Given the description of an element on the screen output the (x, y) to click on. 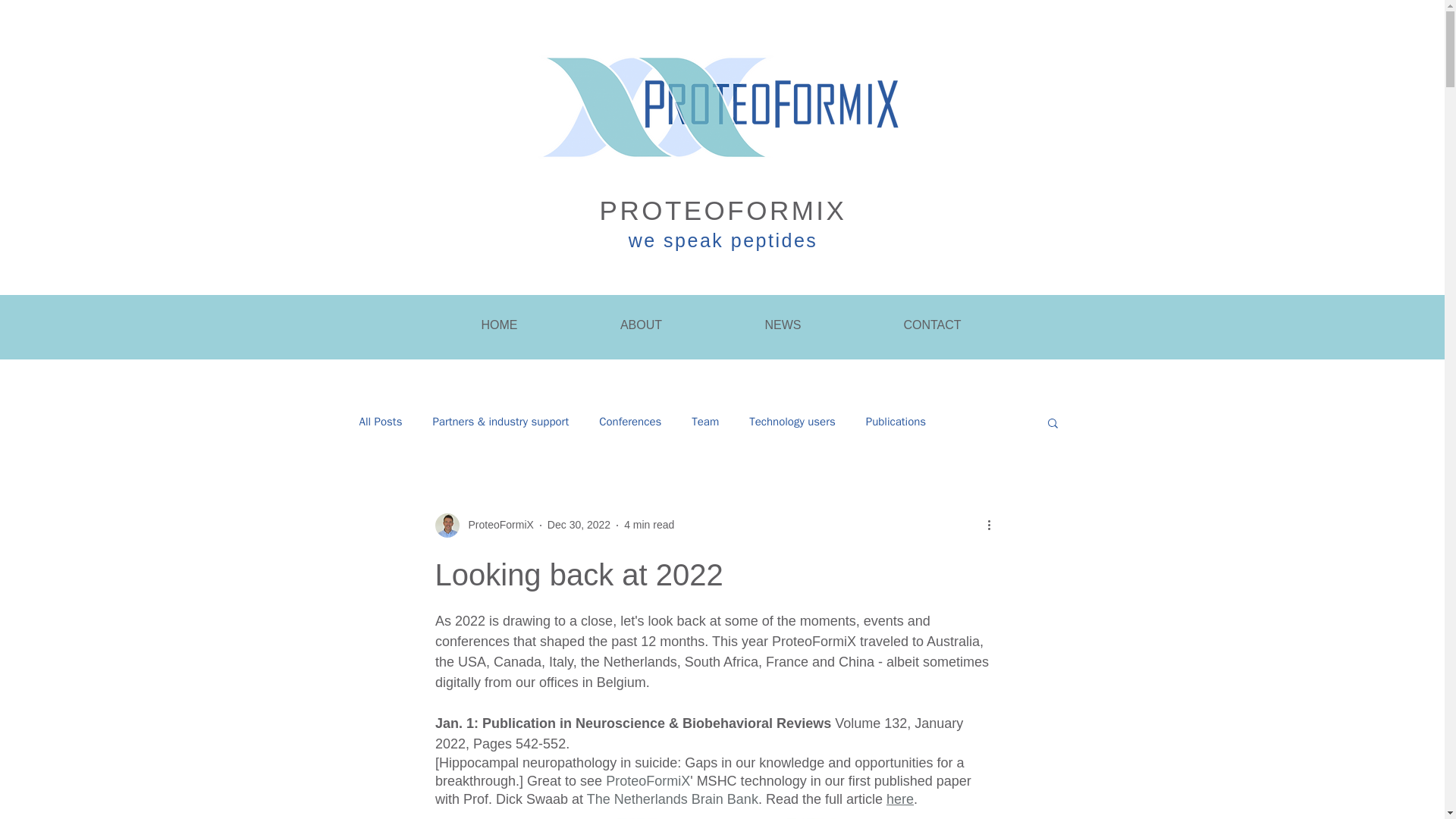
Team (705, 421)
NEWS (782, 324)
ProteoFormiX (484, 524)
HOME (499, 324)
Technology users (792, 421)
PROTEOFORMIX (723, 210)
ProteoFormiX (497, 524)
All Posts (381, 421)
here (898, 798)
Dec 30, 2022 (578, 524)
CONTACT (931, 324)
4 min read (649, 524)
ABOUT (641, 324)
Publications (896, 421)
The Netherlands Brain Bank (671, 798)
